Given the description of an element on the screen output the (x, y) to click on. 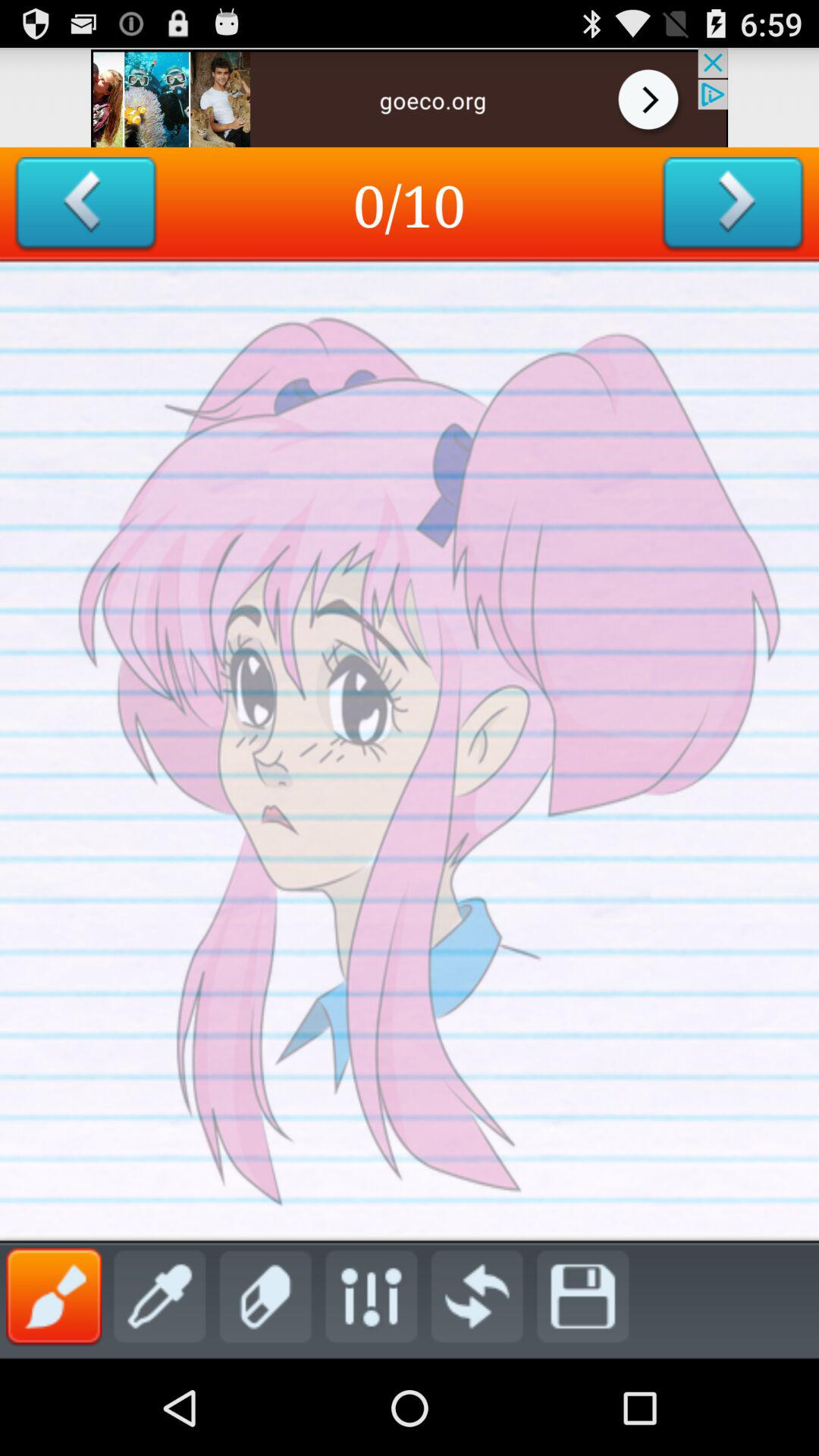
click to next (732, 204)
